Given the description of an element on the screen output the (x, y) to click on. 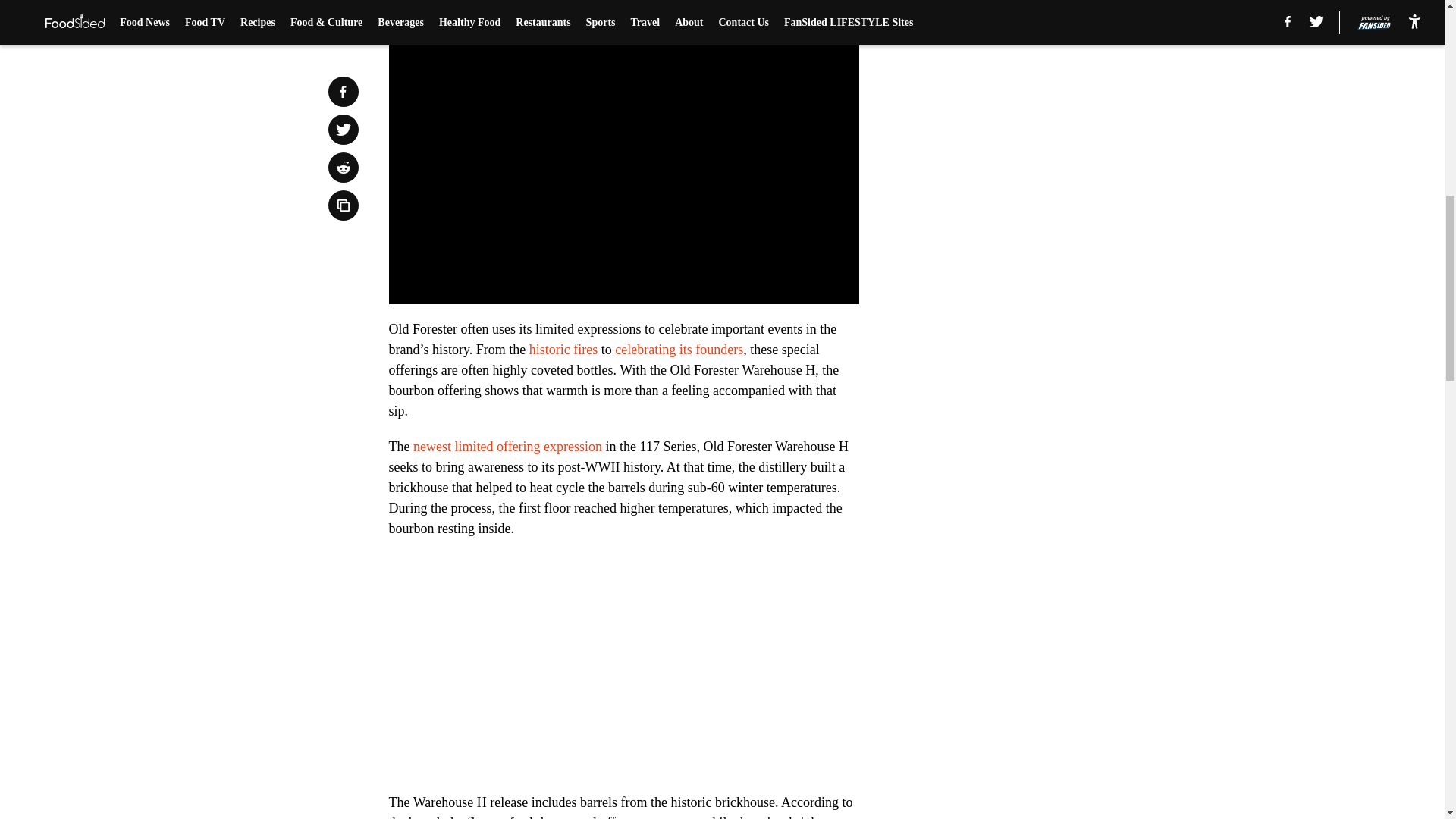
historic fires (562, 349)
celebrating its founders (678, 349)
newest limited offering expression (507, 446)
